Given the description of an element on the screen output the (x, y) to click on. 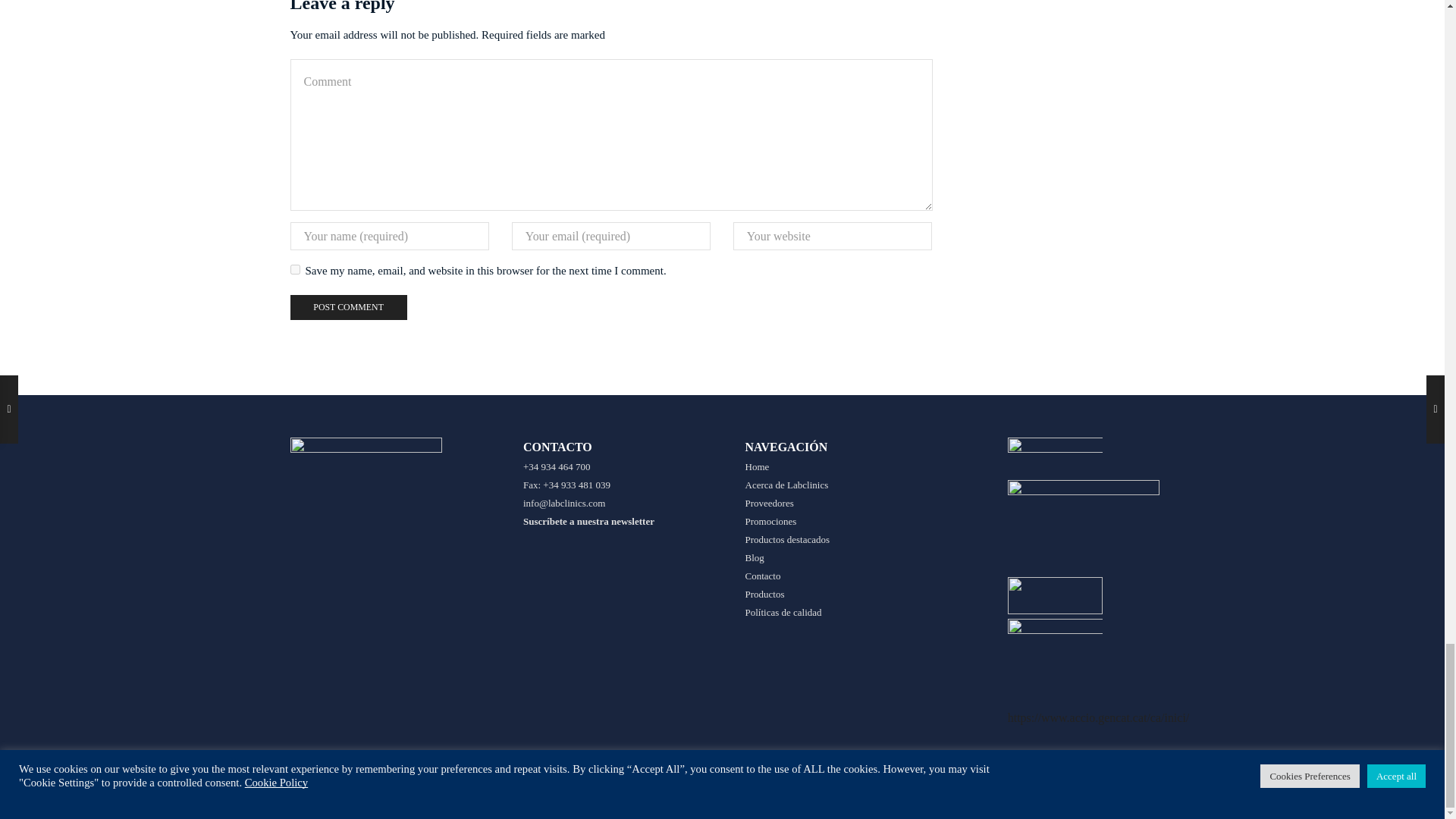
yes (294, 269)
Post Comment (347, 307)
